Given the description of an element on the screen output the (x, y) to click on. 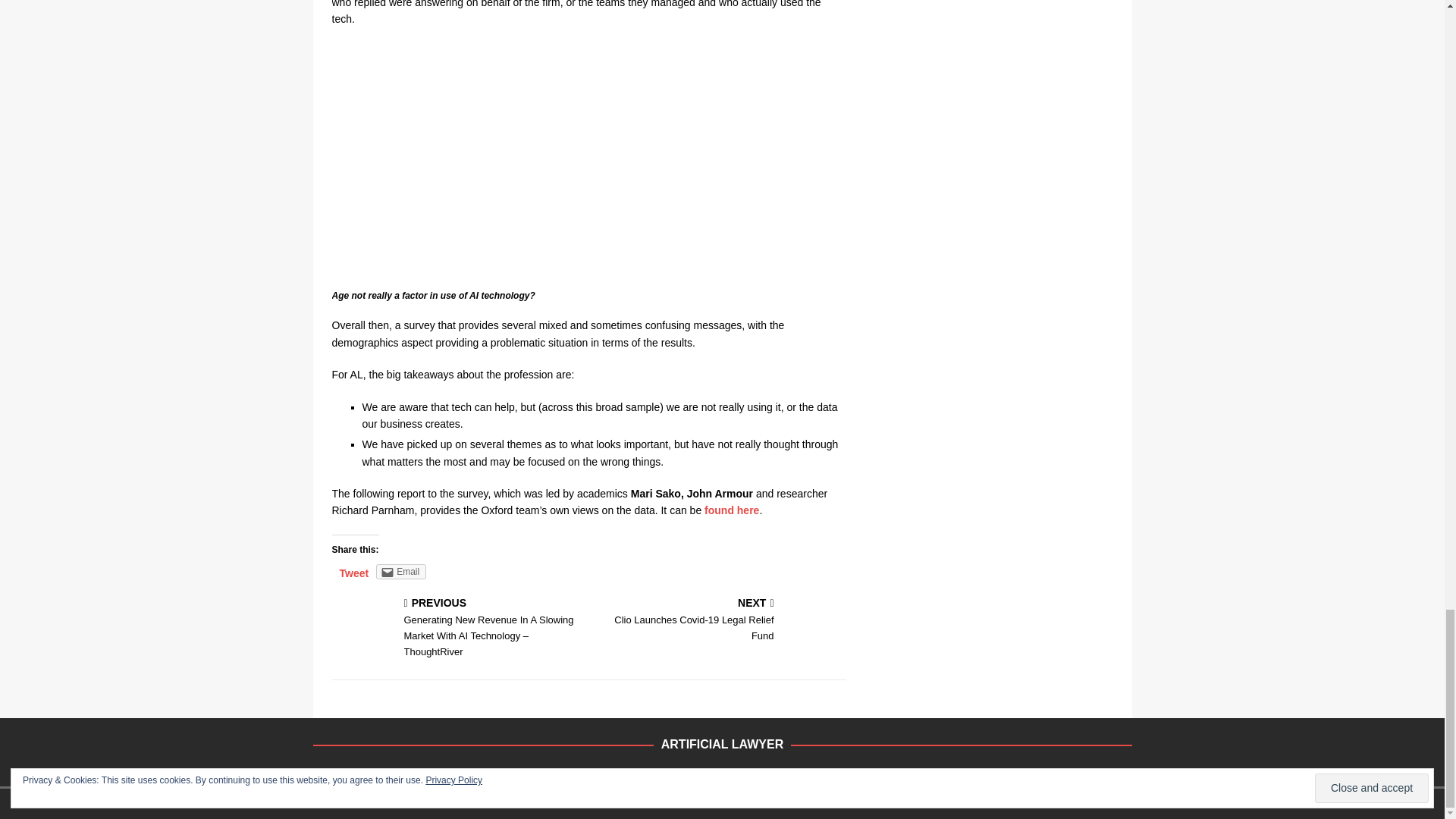
Email (400, 571)
found here (731, 510)
Click to email a link to a friend (400, 571)
Premium WordPress Themes (720, 620)
MH Themes (564, 802)
Tweet (564, 802)
